Given the description of an element on the screen output the (x, y) to click on. 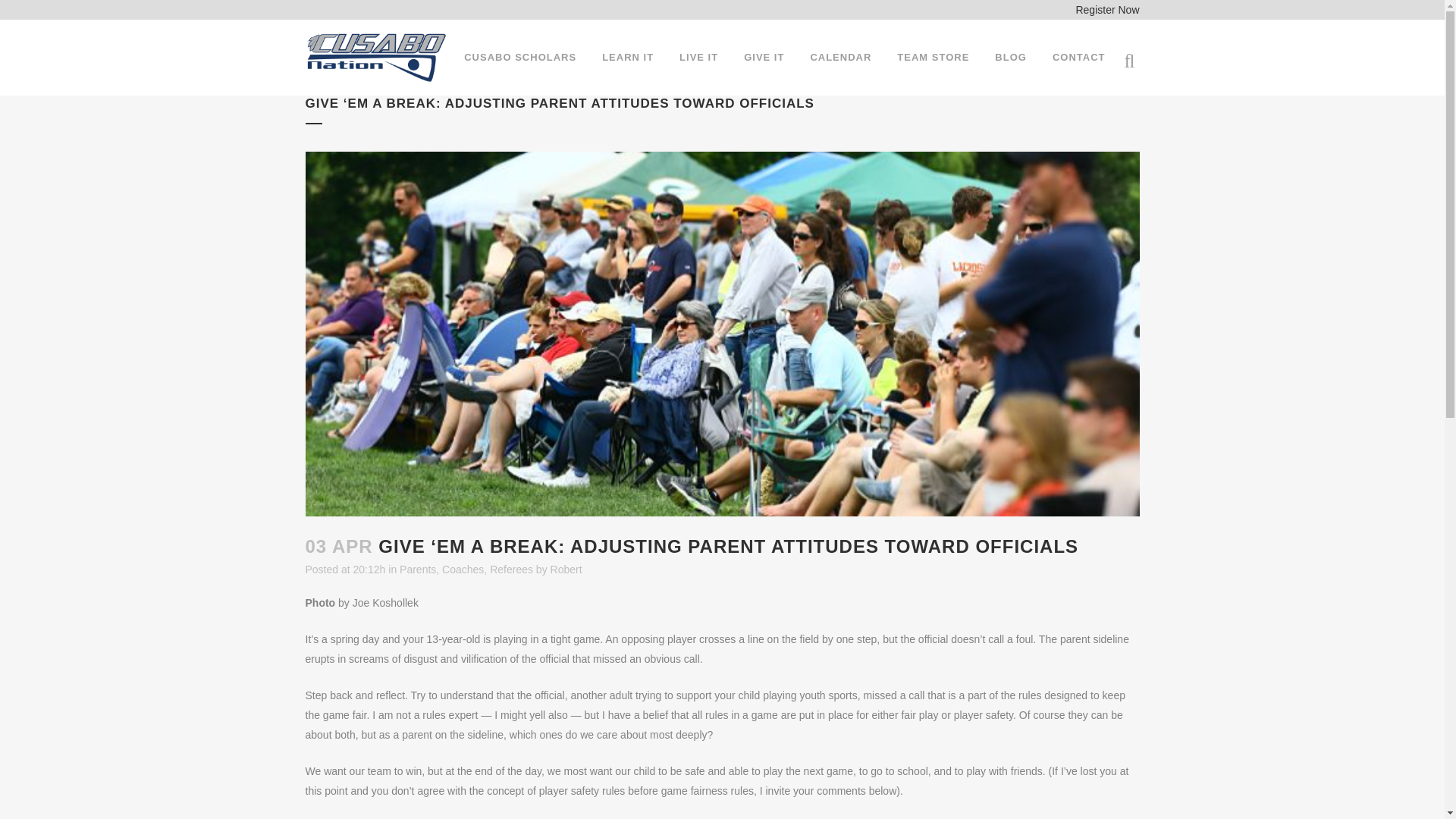
CALENDAR (839, 57)
Coaches (462, 569)
Robert (566, 569)
CUSABO SCHOLARS (520, 57)
Parents (416, 569)
CONTACT (1078, 57)
Register Now (1106, 9)
LEARN IT (627, 57)
Referees (510, 569)
TEAM STORE (932, 57)
